Given the description of an element on the screen output the (x, y) to click on. 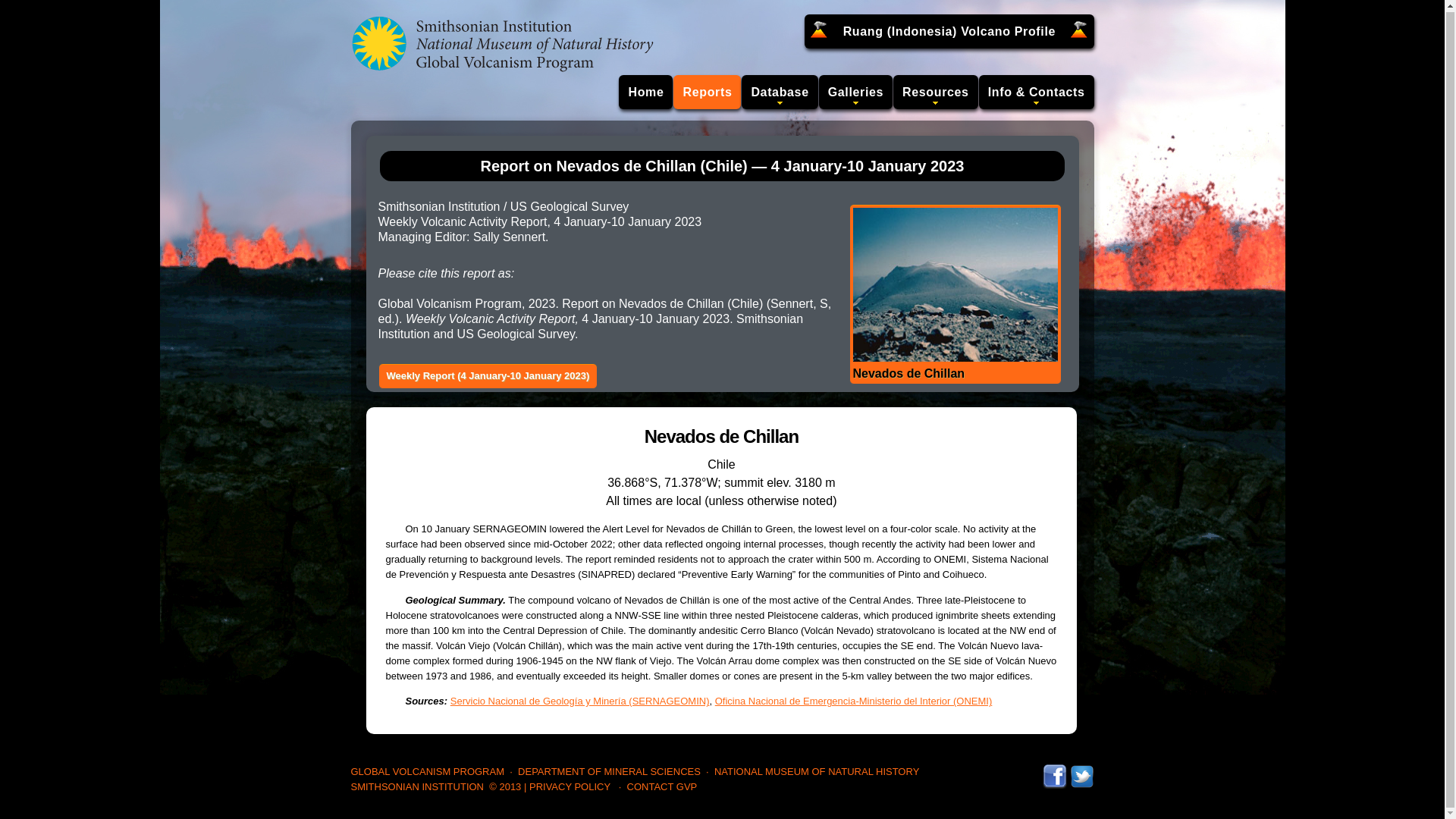
Twitter (1080, 771)
Home (645, 91)
Reports (706, 91)
Nevados de Chillan (954, 294)
Link to Copyright Notice (505, 786)
Link to Privacy Notice (569, 786)
Send email to GVP (662, 786)
Database (778, 91)
Galleries (855, 91)
Resources (935, 91)
Facebook (1054, 771)
